Given the description of an element on the screen output the (x, y) to click on. 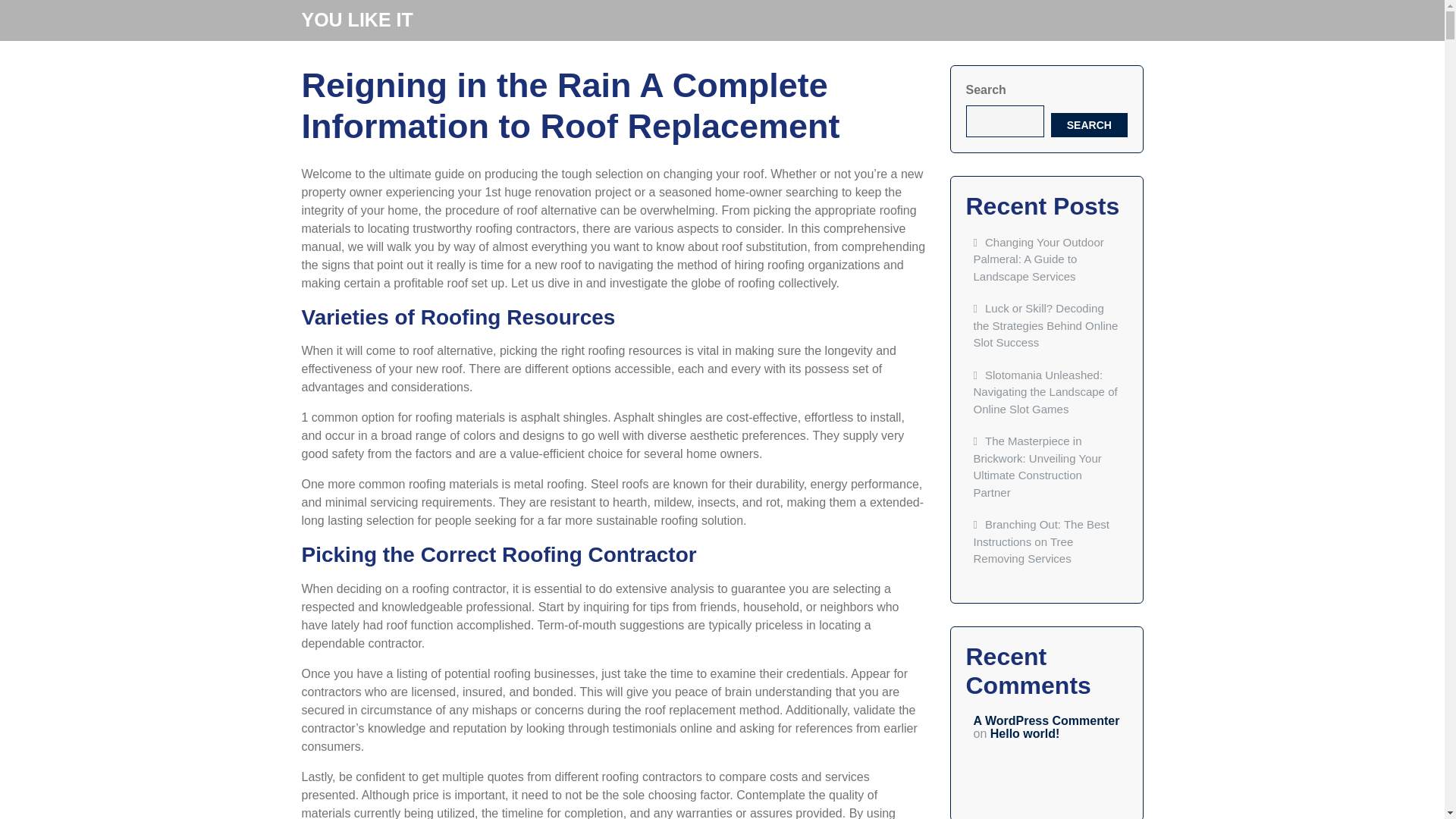
YOU LIKE IT (357, 19)
A WordPress Commenter (1046, 720)
SEARCH (1088, 124)
Hello world! (1024, 733)
